Given the description of an element on the screen output the (x, y) to click on. 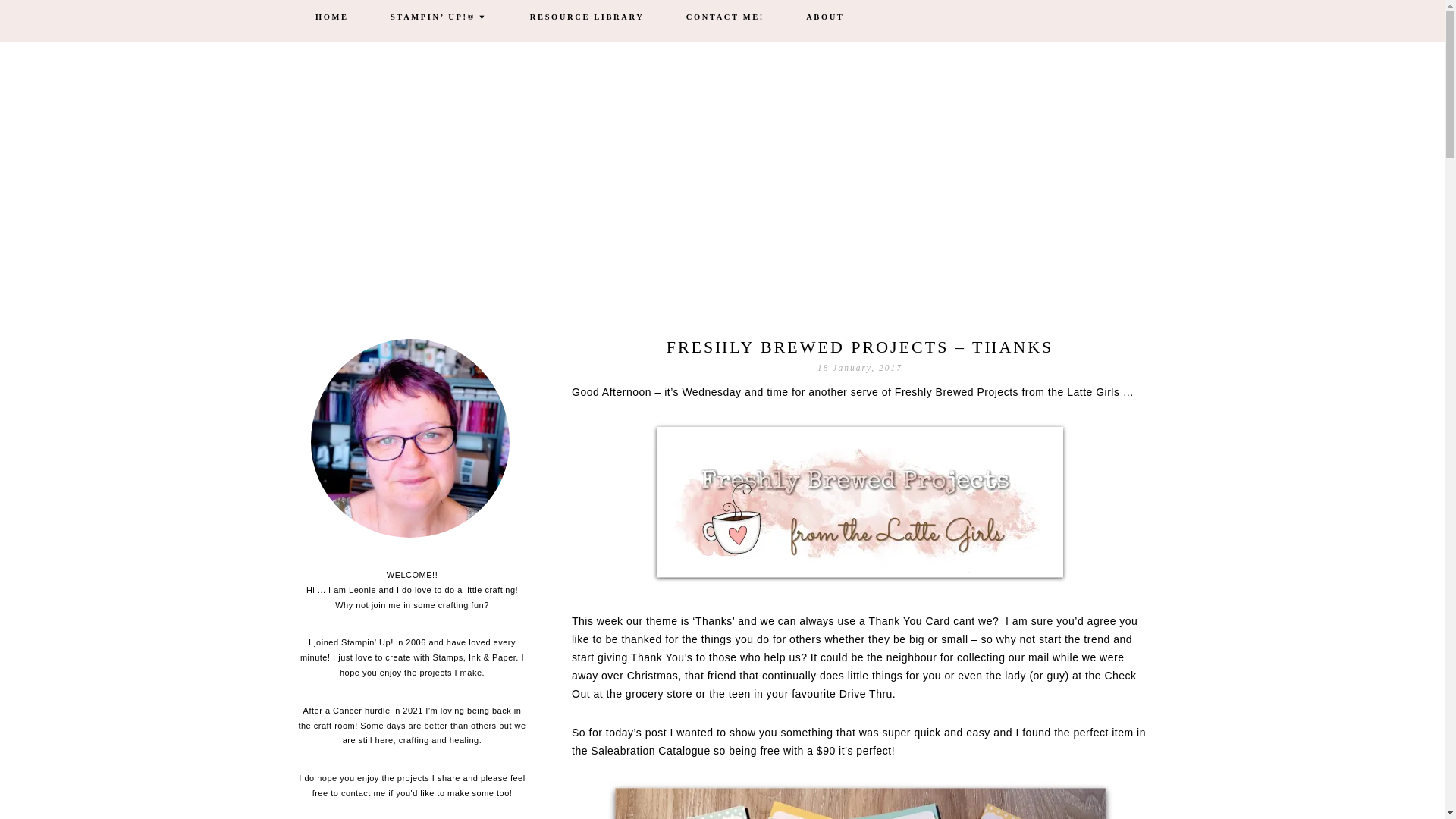
RESOURCE LIBRARY (587, 18)
HOME (332, 18)
CONTACT ME! (724, 18)
Email Me! (410, 442)
ABOUT (825, 18)
